Given the description of an element on the screen output the (x, y) to click on. 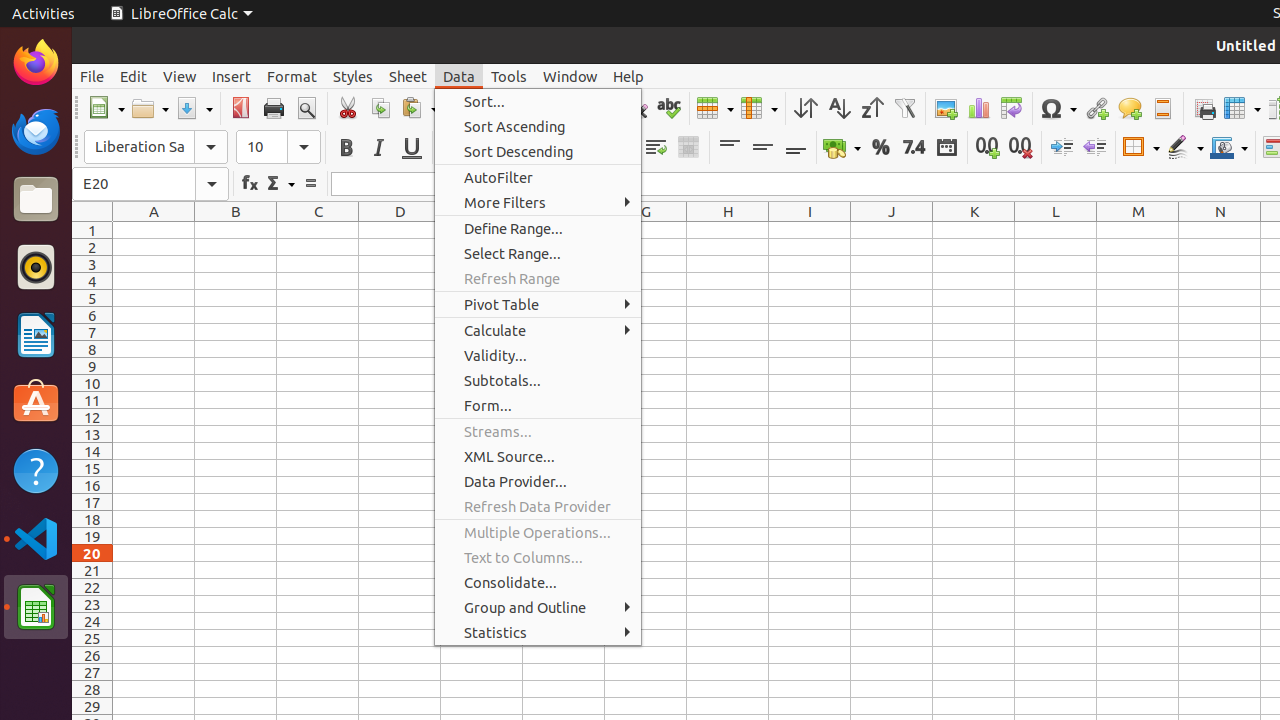
Sheet Element type: menu (408, 76)
Open Element type: push-button (150, 108)
Refresh Data Provider Element type: menu-item (538, 506)
Text to Columns... Element type: menu-item (538, 557)
B1 Element type: table-cell (236, 230)
